Given the description of an element on the screen output the (x, y) to click on. 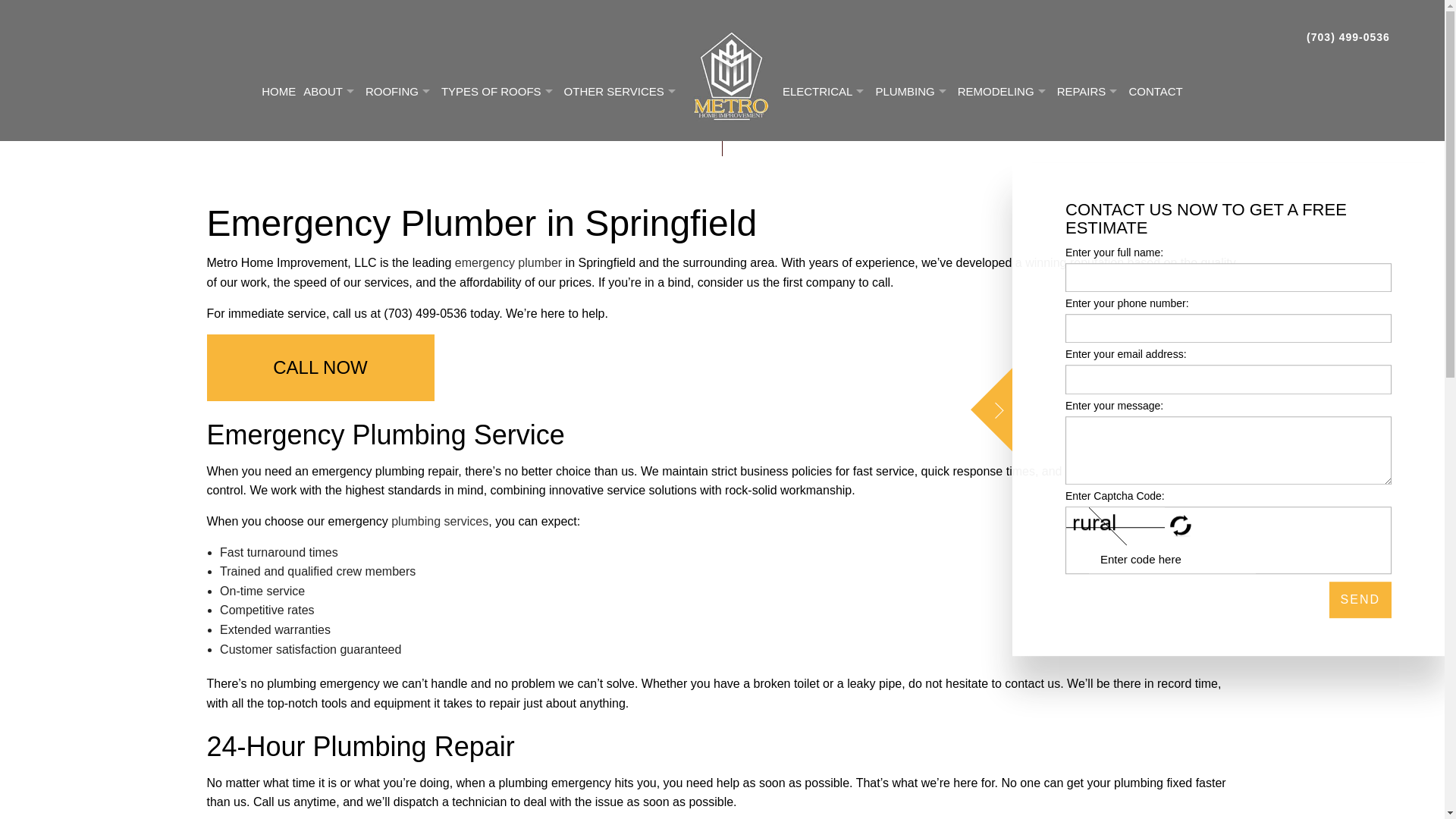
Refresh Captcha (1181, 526)
Learn More About this Plumbing Company (439, 521)
Phone Number (1228, 328)
Captcha Code (1172, 559)
Your Message (1228, 450)
Email Address (1228, 379)
Learn More About Emergency Plumber Services (508, 262)
Full Name (1228, 276)
